Given the description of an element on the screen output the (x, y) to click on. 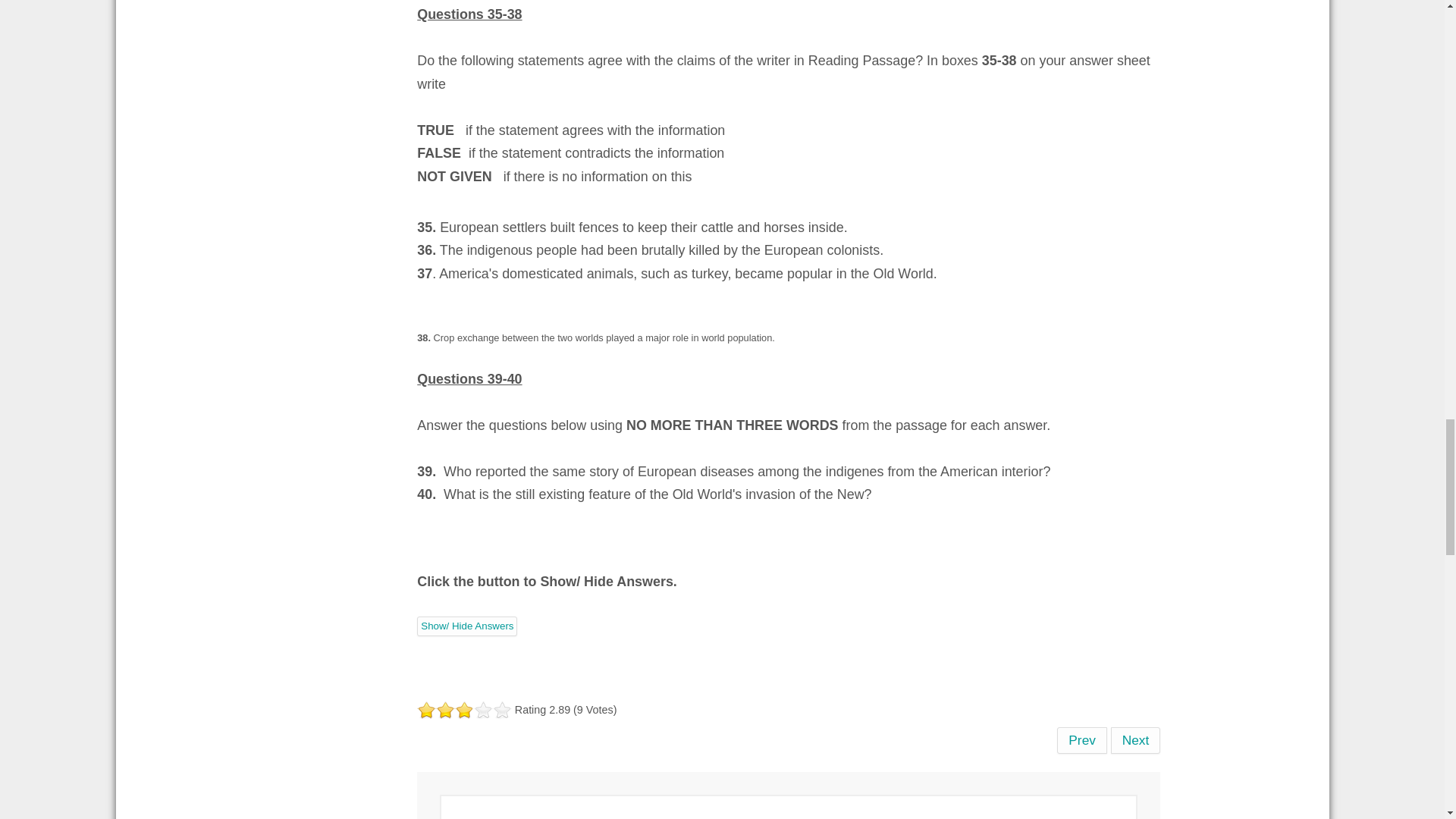
4.5 out of 5 (459, 710)
3.5 out of 5 (449, 710)
1.5 out of 5 (430, 710)
3 out of 5 (445, 710)
4 out of 5 (454, 710)
1 out of 5 (425, 710)
0.5 out of 5 (421, 710)
2.5 out of 5 (440, 710)
2 out of 5 (435, 710)
